Given the description of an element on the screen output the (x, y) to click on. 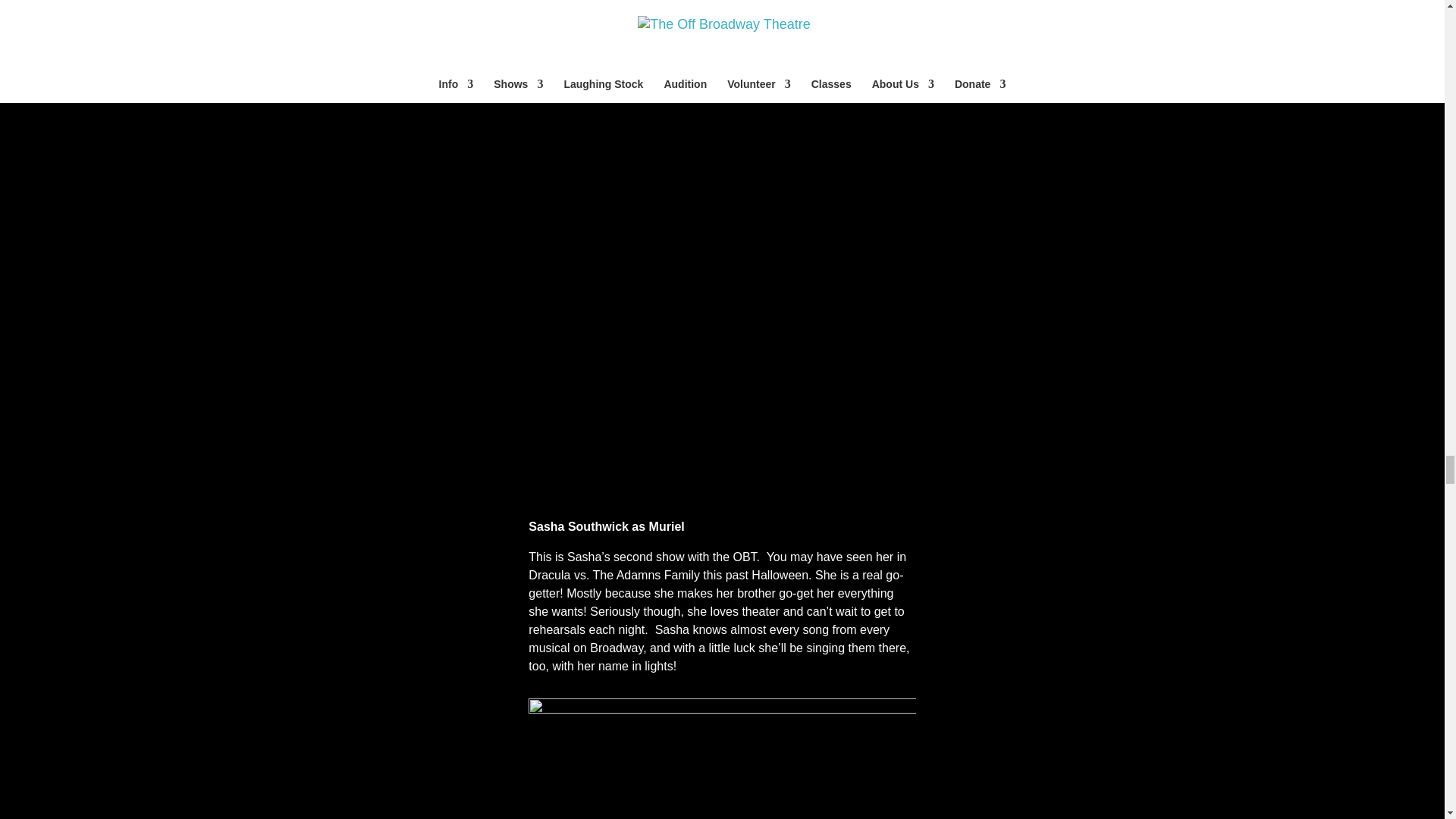
Jagger Weicher-PSedit (721, 758)
